Given the description of an element on the screen output the (x, y) to click on. 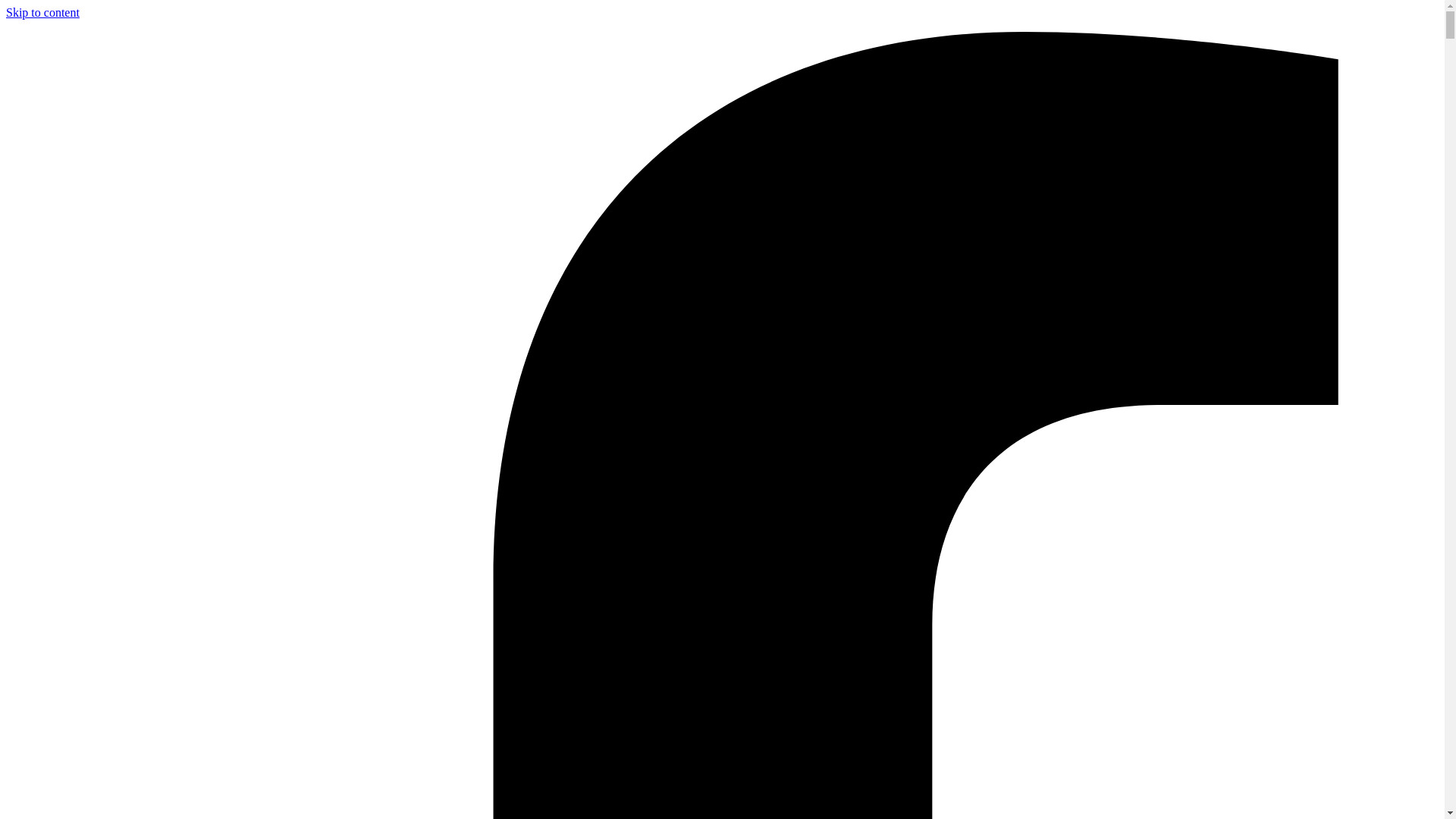
Skip to content (42, 11)
